Given the description of an element on the screen output the (x, y) to click on. 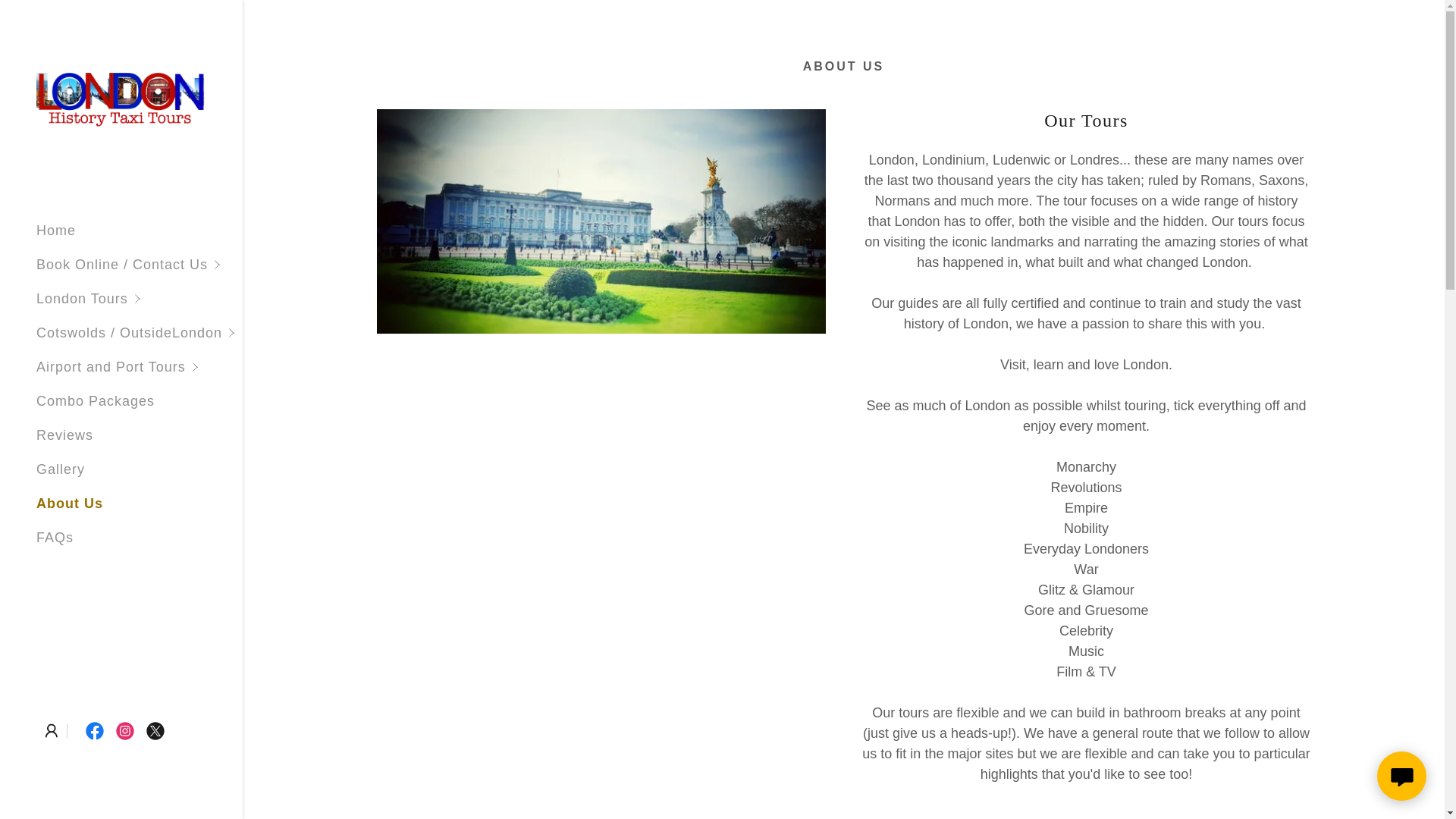
FAQs (55, 537)
Reviews (64, 435)
About Us (69, 503)
Gallery (60, 468)
Airport and Port Tours (139, 367)
London Tours (139, 298)
Home (55, 230)
London History Taxi Tours (121, 104)
Combo Packages (95, 400)
